Given the description of an element on the screen output the (x, y) to click on. 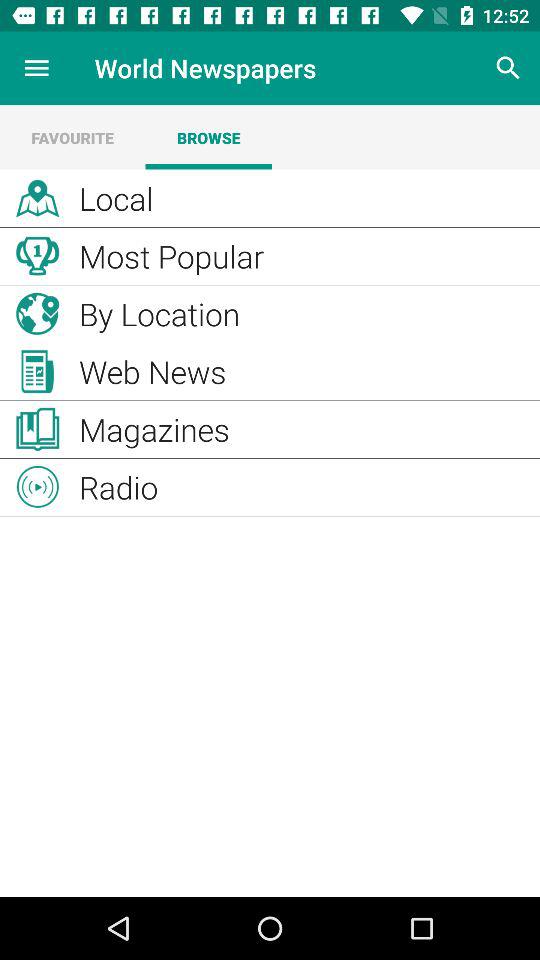
launch item to the right of world newspapers item (508, 67)
